Given the description of an element on the screen output the (x, y) to click on. 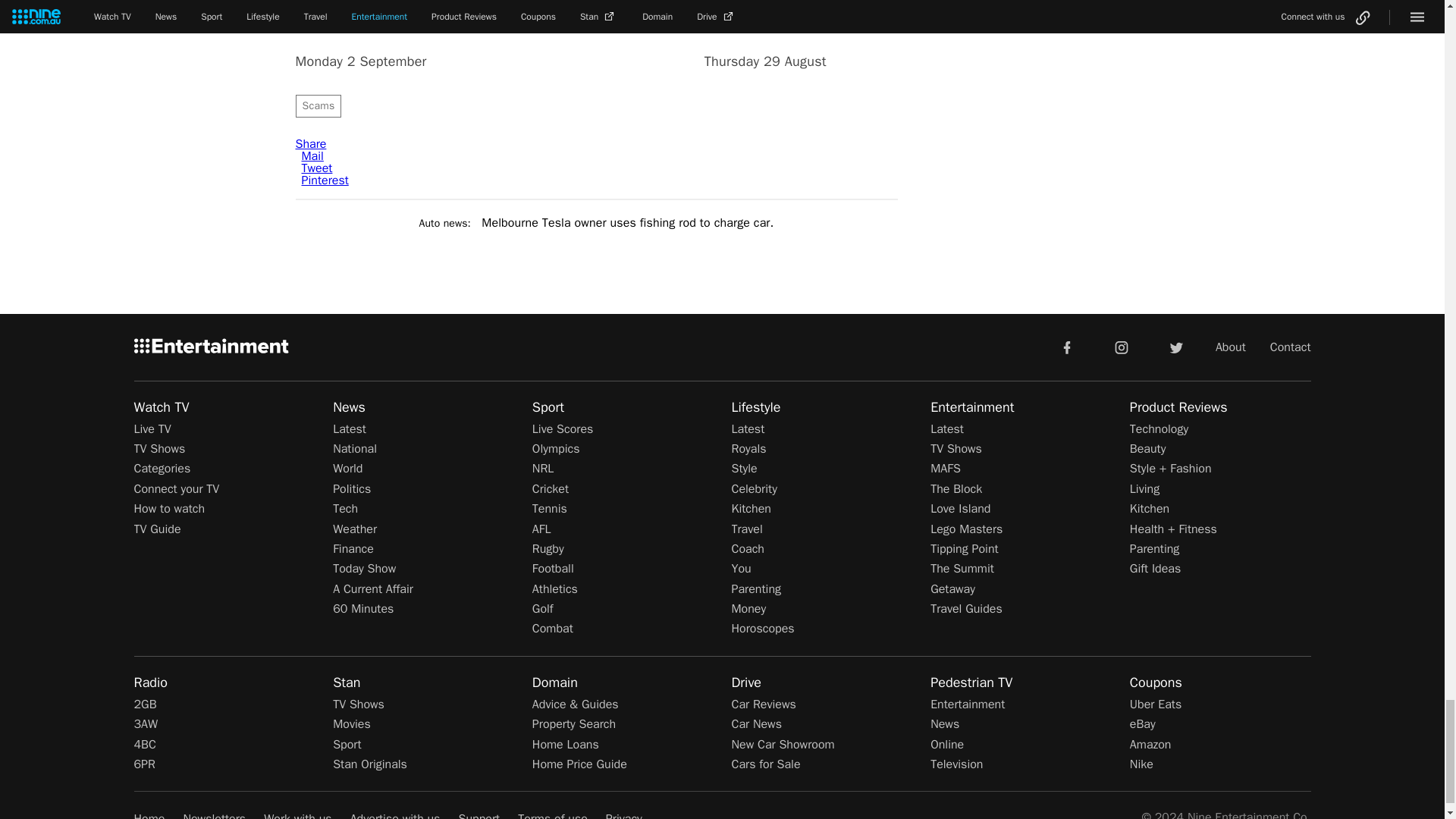
Tweet (317, 168)
Pinterest (325, 180)
Monday 2 September (392, 35)
Scams (318, 106)
About (1230, 346)
Share (310, 143)
facebook (1066, 346)
Mail (312, 155)
instagram (1121, 346)
Thursday 29 August (801, 35)
